Given the description of an element on the screen output the (x, y) to click on. 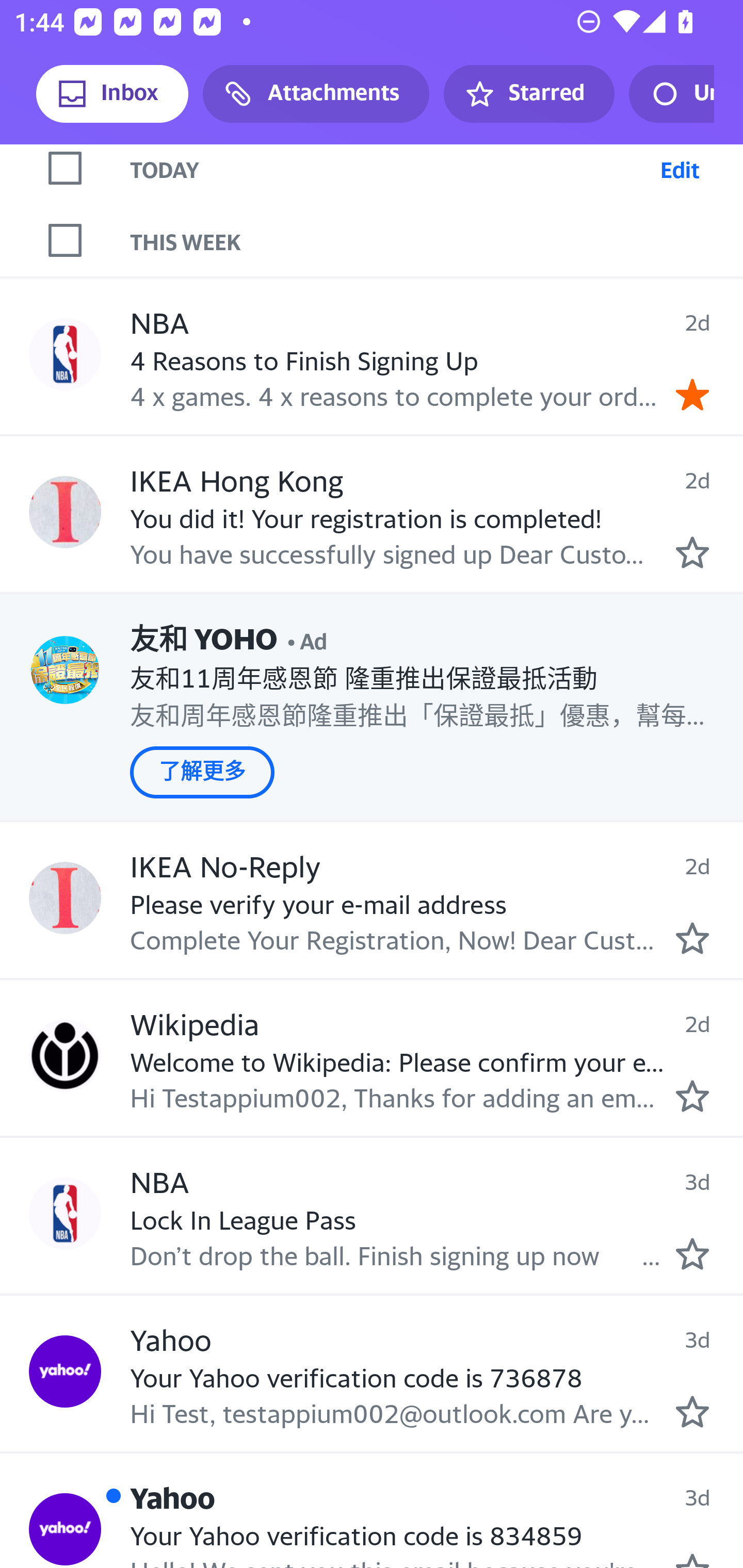
Attachments (315, 93)
Starred (528, 93)
THIS WEEK (436, 240)
Profile
NBA (64, 354)
Remove star. (692, 394)
Profile
IKEA Hong Kong (64, 512)
Mark as starred. (692, 552)
Profile
IKEA No-Reply (64, 898)
Mark as starred. (692, 938)
Profile
Wikipedia (64, 1055)
Mark as starred. (692, 1096)
Profile
NBA (64, 1213)
Mark as starred. (692, 1253)
Profile
Yahoo (64, 1371)
Mark as starred. (692, 1411)
Profile
Yahoo (64, 1528)
